Given the description of an element on the screen output the (x, y) to click on. 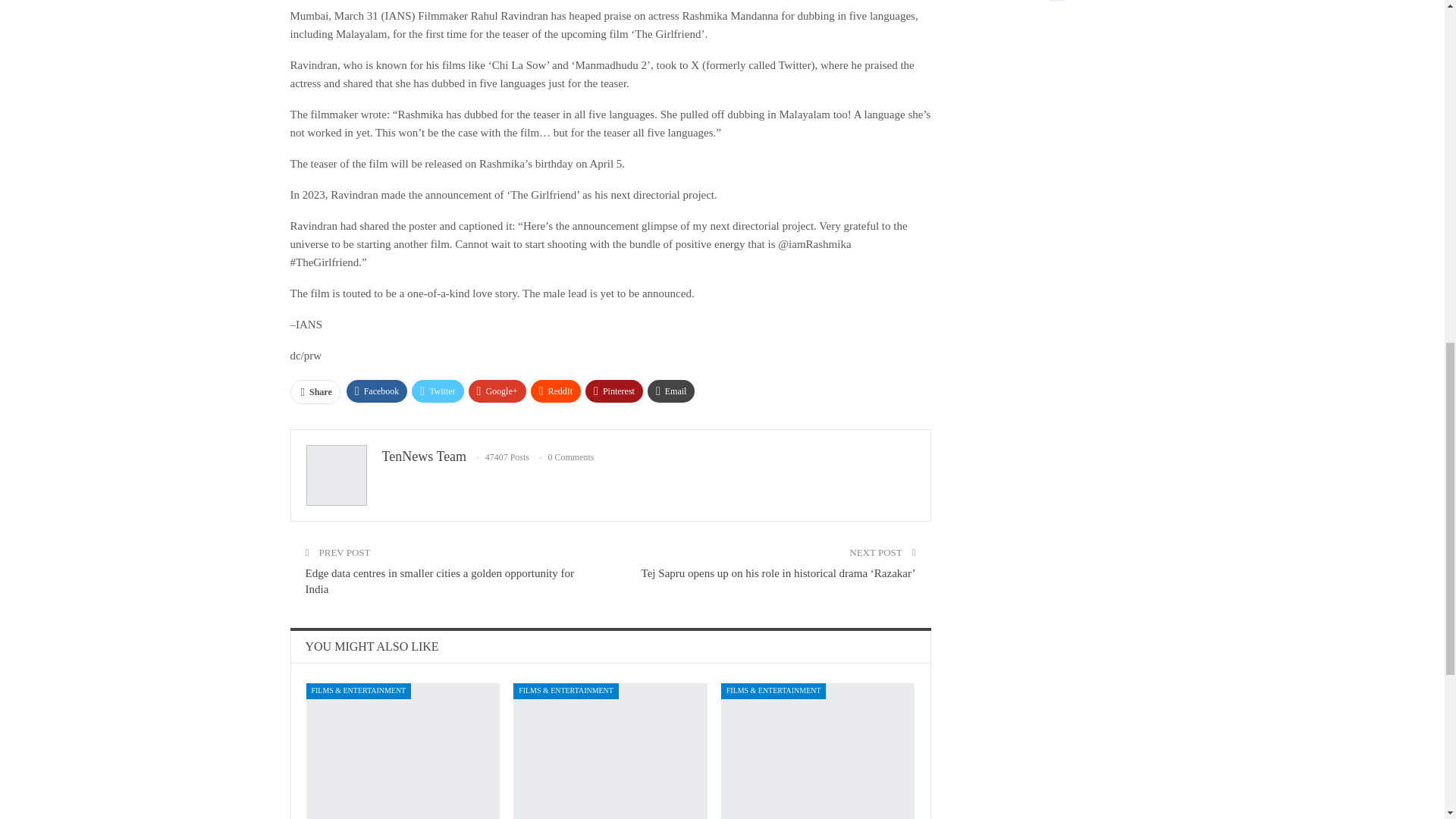
Facebook (376, 391)
Twitter (437, 391)
ReddIt (555, 391)
